Given the description of an element on the screen output the (x, y) to click on. 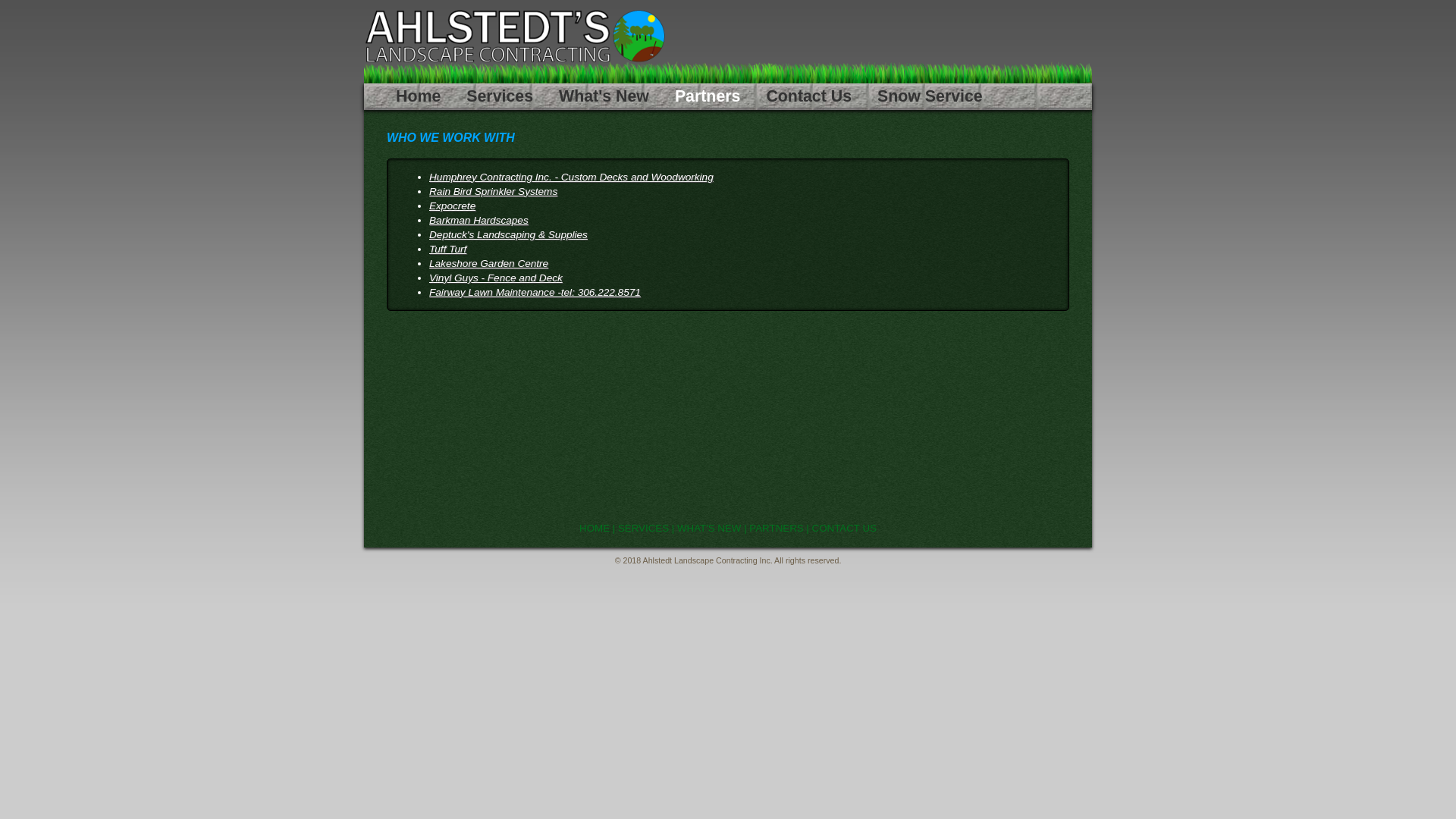
HOME Element type: text (594, 527)
Rain Bird Sprinkler Systems Element type: text (493, 191)
Tuff Turf Element type: text (447, 248)
Contact Us Element type: text (808, 96)
Expocrete Element type: text (452, 205)
CONTACT US Element type: text (844, 527)
WHAT'S NEW Element type: text (708, 527)
Snow Service Element type: text (929, 96)
Home Element type: text (417, 96)
Deptuck's Landscaping & Supplies Element type: text (508, 234)
Fairway Lawn Maintenance -tel: 306.222.8571 Element type: text (534, 292)
Services Element type: text (499, 96)
Partners Element type: text (707, 96)
What's New Element type: text (603, 96)
Humphrey Contracting Inc. - Custom Decks and Woodworking Element type: text (571, 176)
SERVICES Element type: text (643, 527)
PARTNERS Element type: text (776, 527)
Lakeshore Garden Centre Element type: text (488, 263)
Barkman Hardscapes Element type: text (478, 219)
Vinyl Guys - Fence and Deck Element type: text (495, 277)
